Given the description of an element on the screen output the (x, y) to click on. 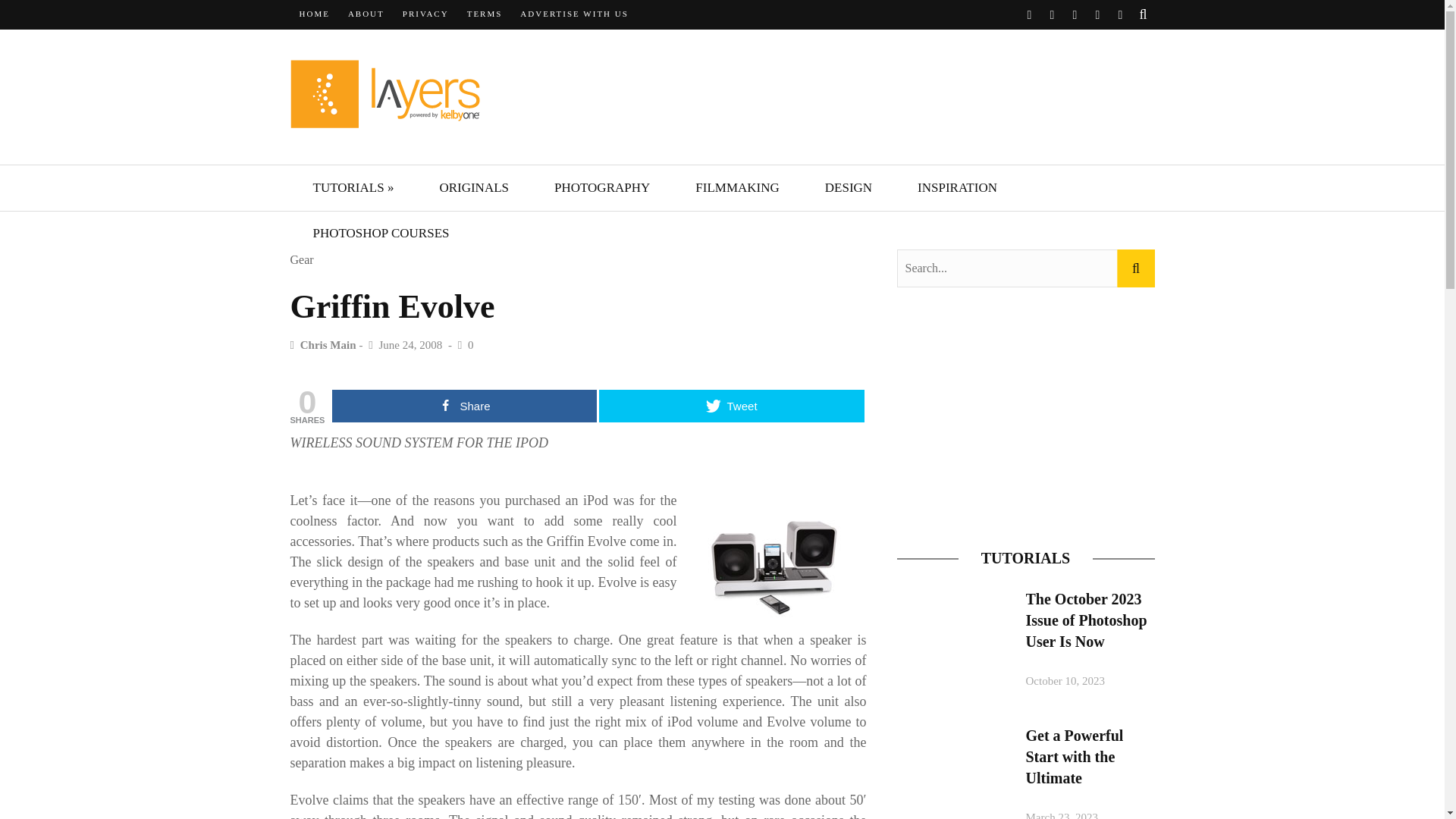
ORIGINALS (473, 187)
PHOTOSHOP COURSES (380, 233)
Share (463, 405)
Gear (301, 260)
DESIGN (848, 187)
PRIVACY (425, 13)
June 24, 2008 (411, 345)
TERMS (484, 13)
ABOUT (365, 13)
PHOTOGRAPHY (601, 187)
